Given the description of an element on the screen output the (x, y) to click on. 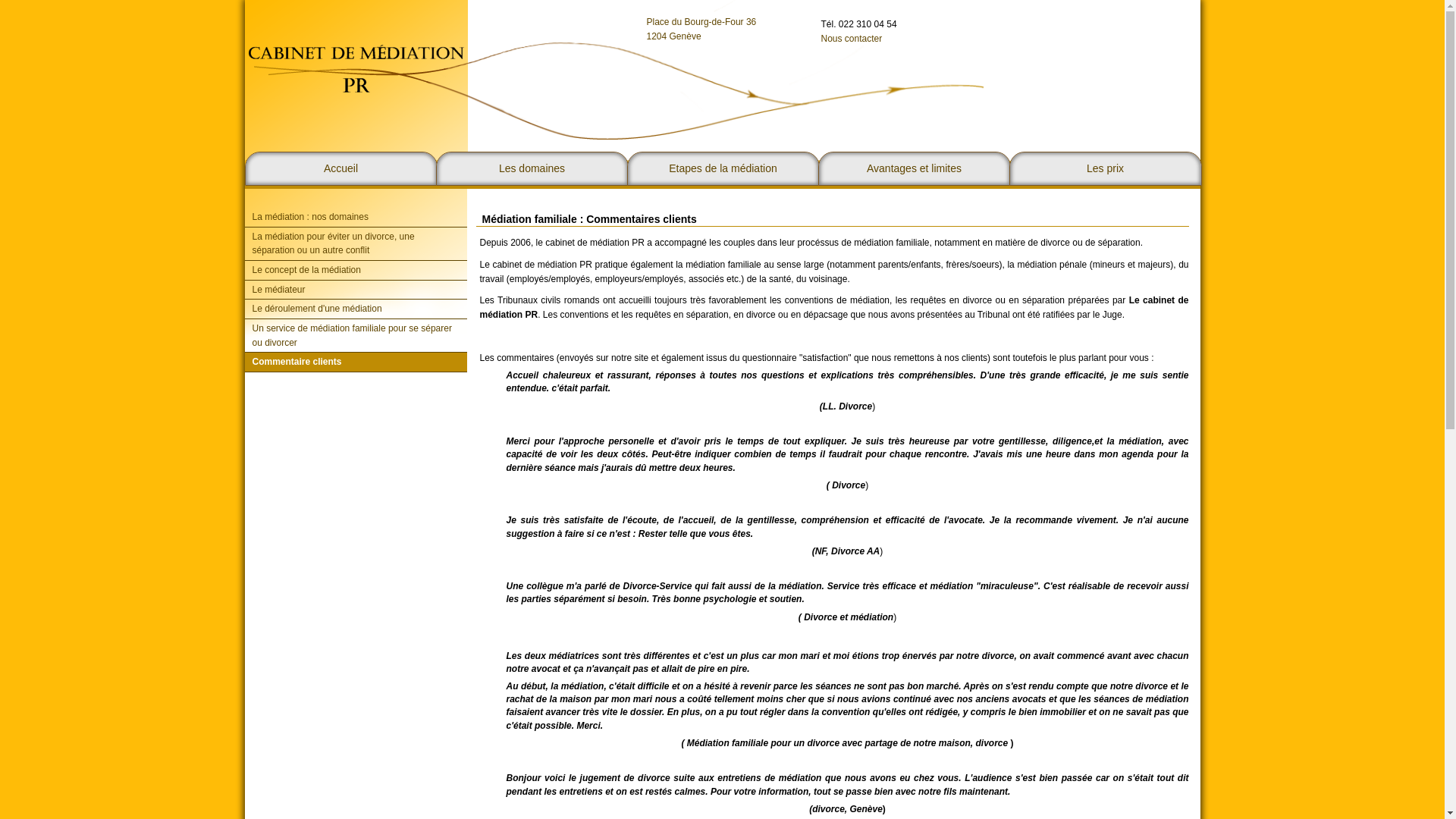
Les prix Element type: text (1104, 168)
Les domaines Element type: text (531, 168)
Commentaire clients Element type: text (355, 362)
Accueil Element type: text (340, 168)
Avantages et limites Element type: text (913, 168)
Nous contacter Element type: text (850, 38)
